Given the description of an element on the screen output the (x, y) to click on. 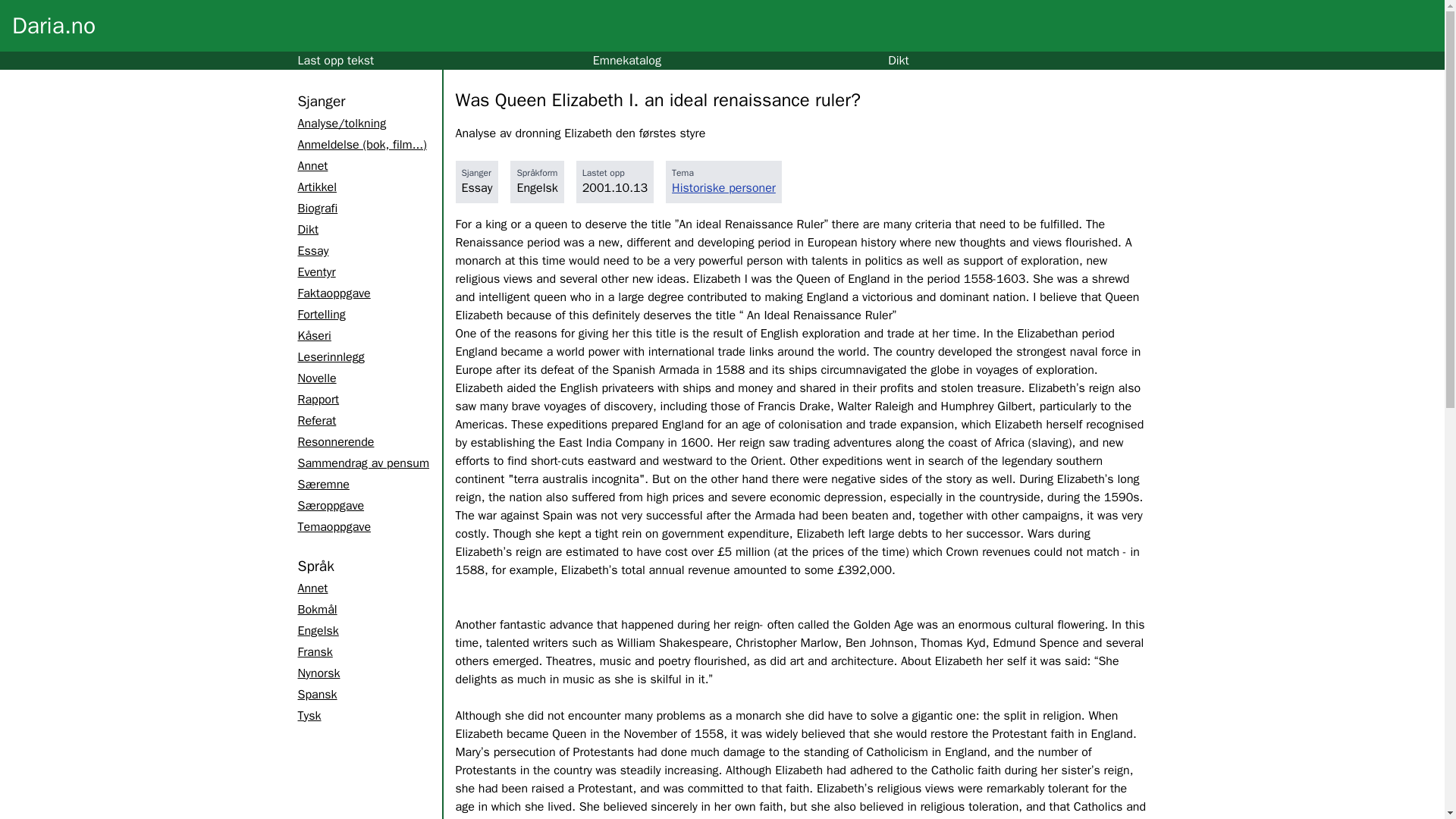
Daria.no (53, 25)
Dikt (898, 60)
Essay (313, 250)
Emnekatalog (626, 60)
Artikkel (316, 186)
Last opp tekst (335, 60)
Dikt (307, 229)
Eventyr (315, 272)
Biografi (317, 208)
Annet (312, 165)
